Given the description of an element on the screen output the (x, y) to click on. 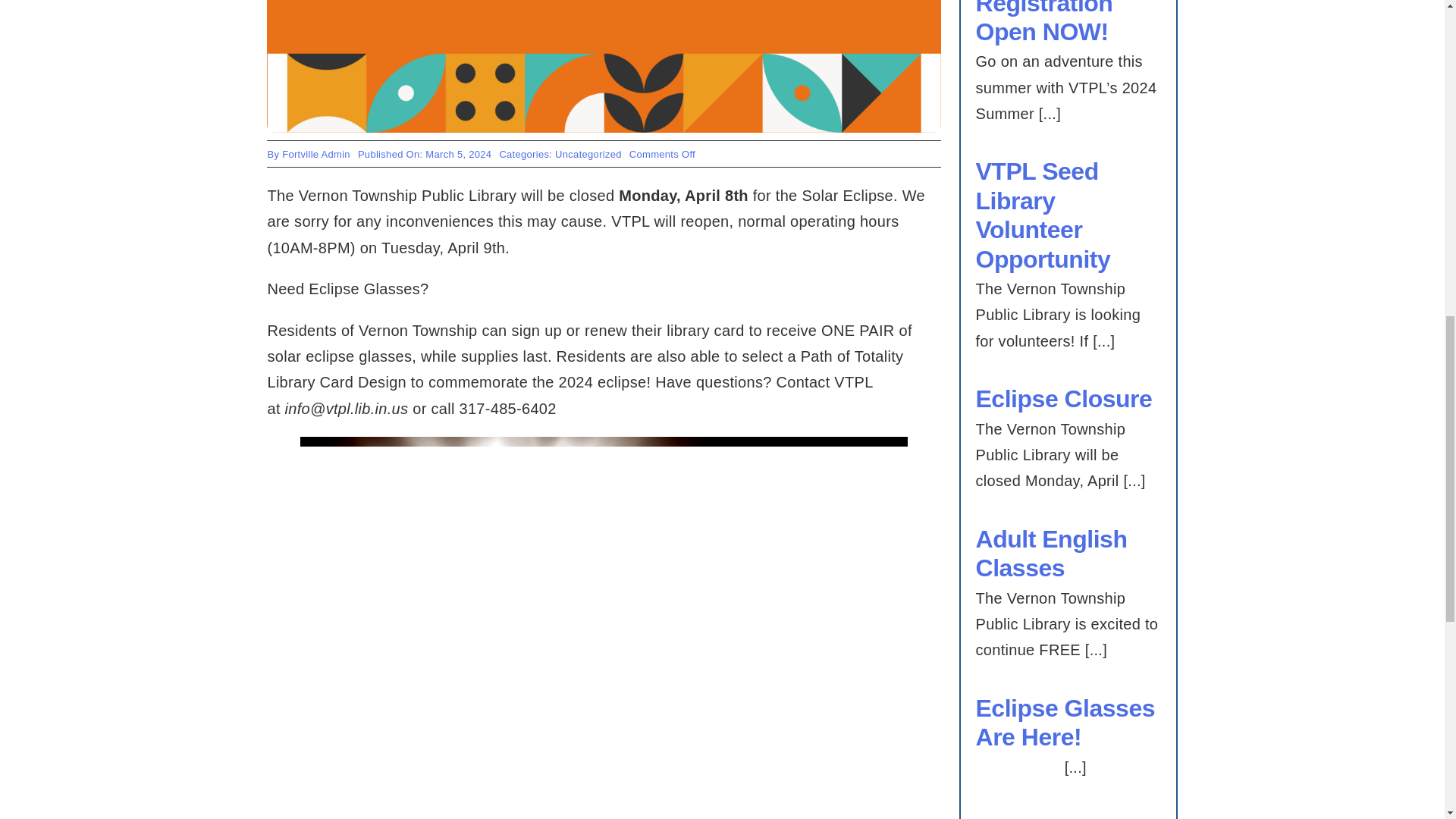
2024 Scheduled Closures VTPL (603, 66)
Posts by Fortville Admin (316, 153)
